Given the description of an element on the screen output the (x, y) to click on. 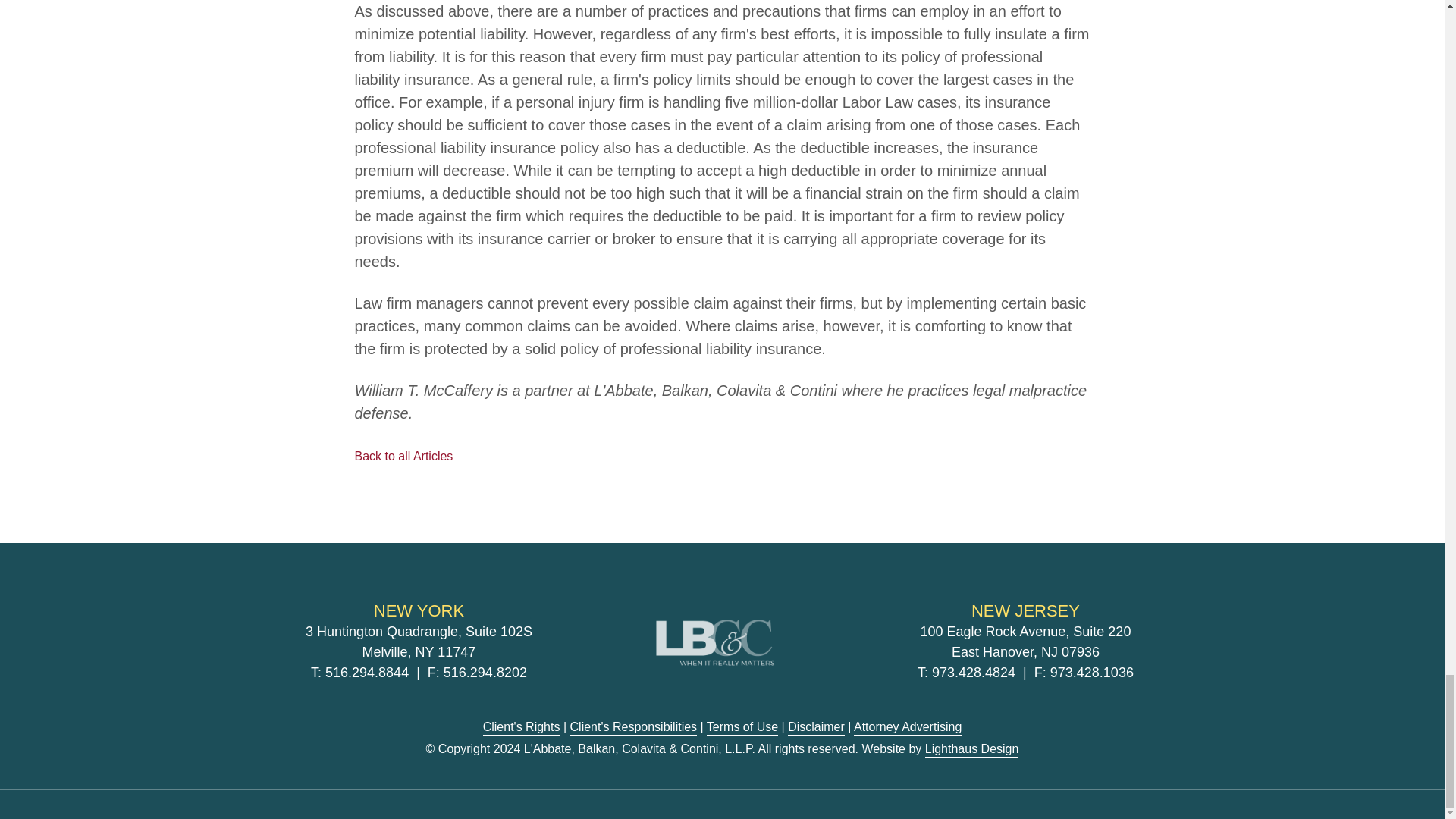
Lighthaus Design (971, 749)
Back to all Articles (403, 455)
Terms of Use (741, 727)
Client's Responsibilities (633, 727)
Attorney Advertising (906, 727)
Client's Rights (521, 727)
Disclaimer (815, 727)
